Given the description of an element on the screen output the (x, y) to click on. 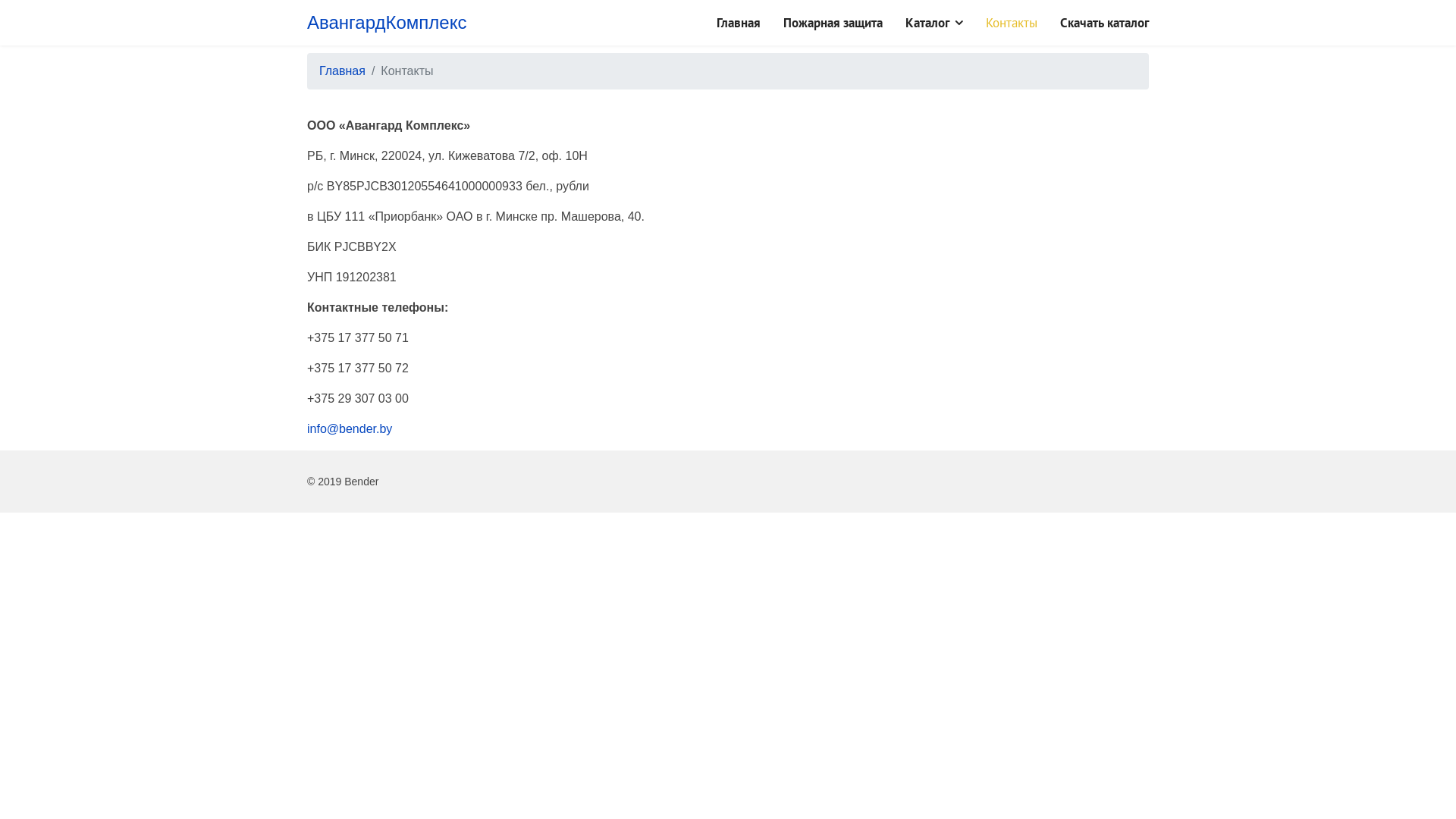
info@bender.by Element type: text (349, 428)
